Given the description of an element on the screen output the (x, y) to click on. 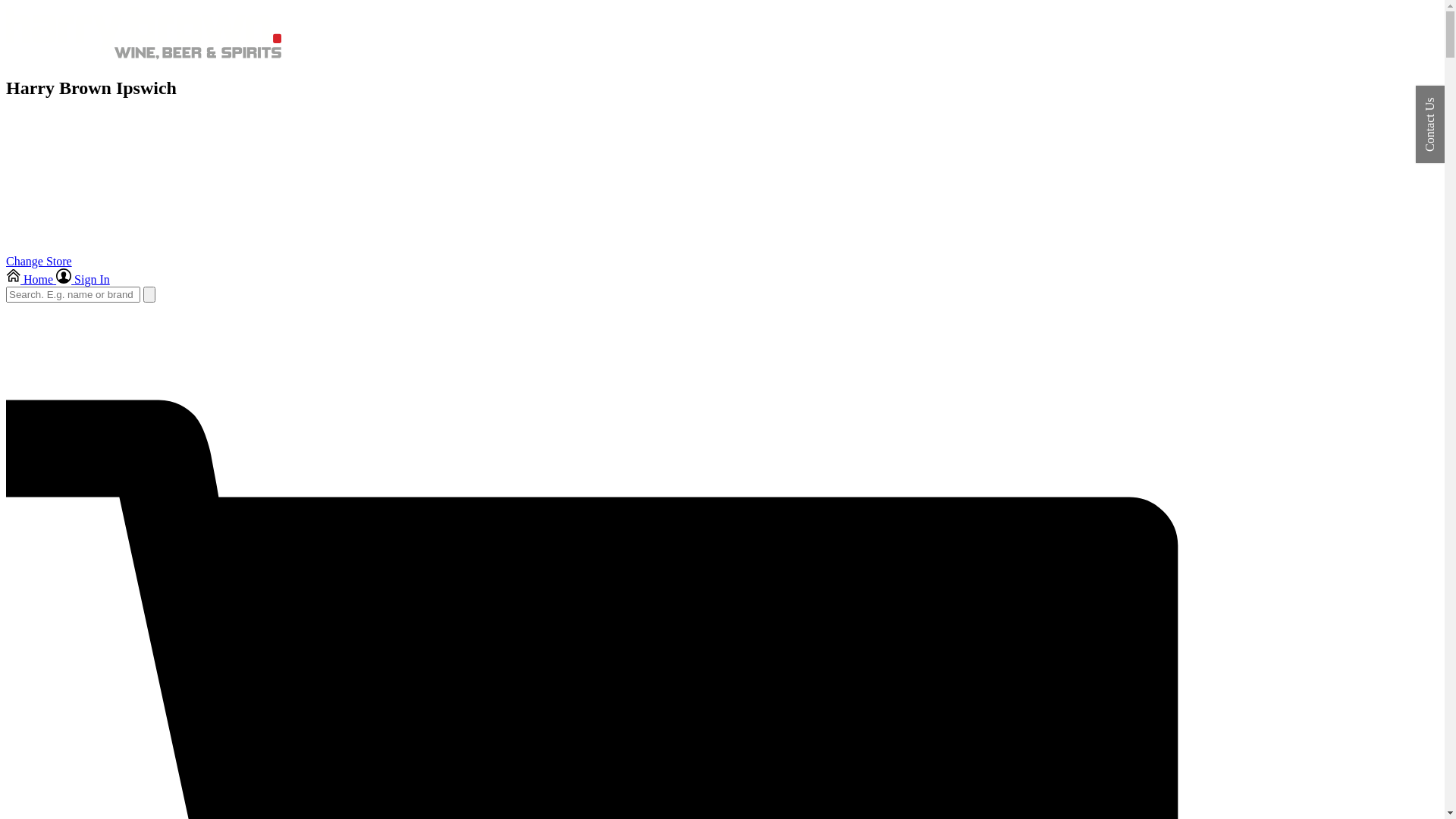
Facebook Element type: hover (150, 260)
Home Element type: hover (143, 55)
Instagram Element type: hover (243, 260)
Home Element type: text (31, 279)
Change Store Element type: text (39, 260)
Search Element type: hover (149, 294)
Sign In Element type: text (82, 279)
